Given the description of an element on the screen output the (x, y) to click on. 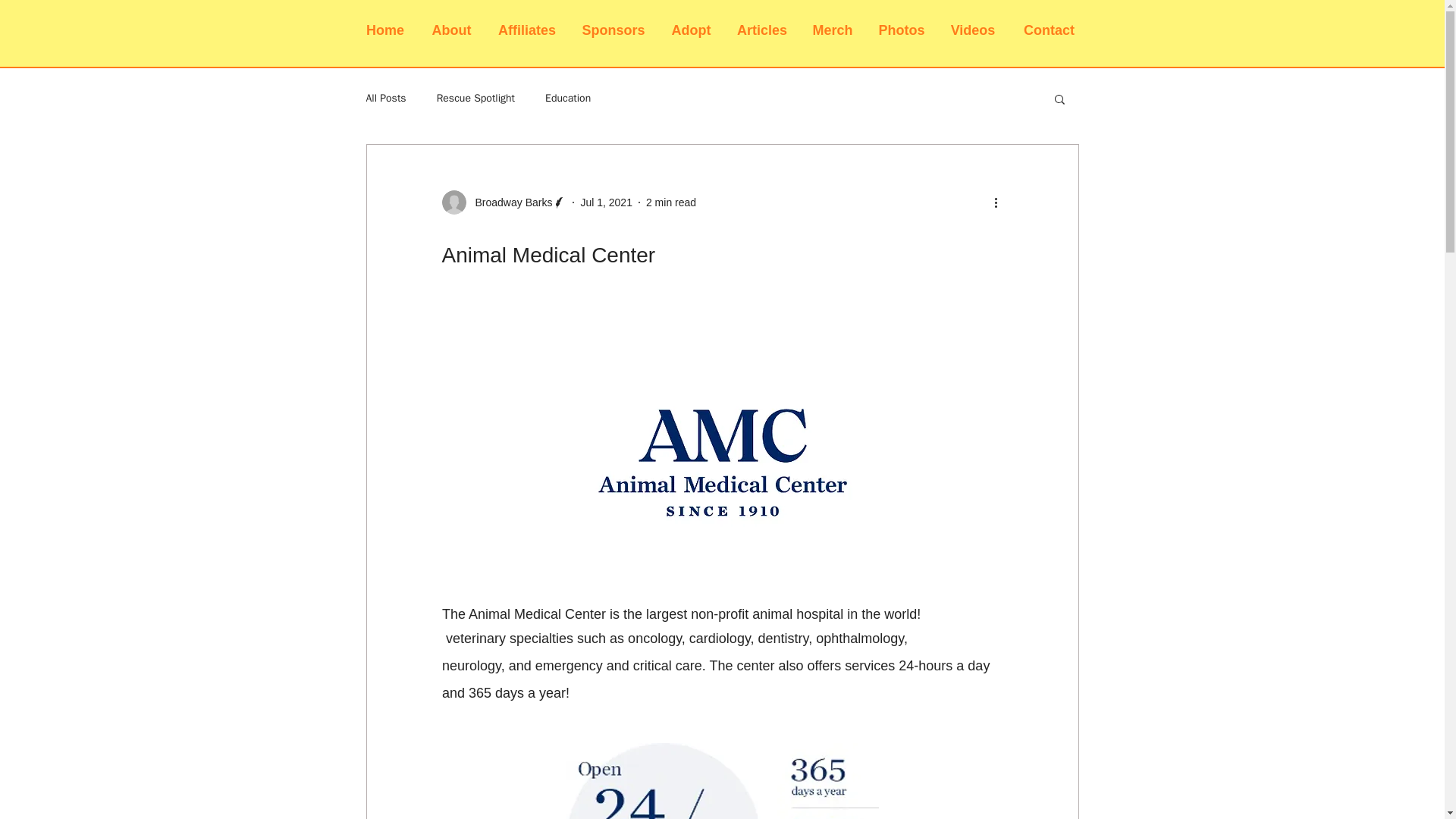
Rescue Spotlight (475, 98)
Videos (972, 29)
About (451, 29)
Sponsors (613, 29)
Affiliates (526, 29)
Adopt (691, 29)
Broadway Barks (503, 202)
2 min read (670, 201)
Education (567, 98)
Merch (831, 29)
